Given the description of an element on the screen output the (x, y) to click on. 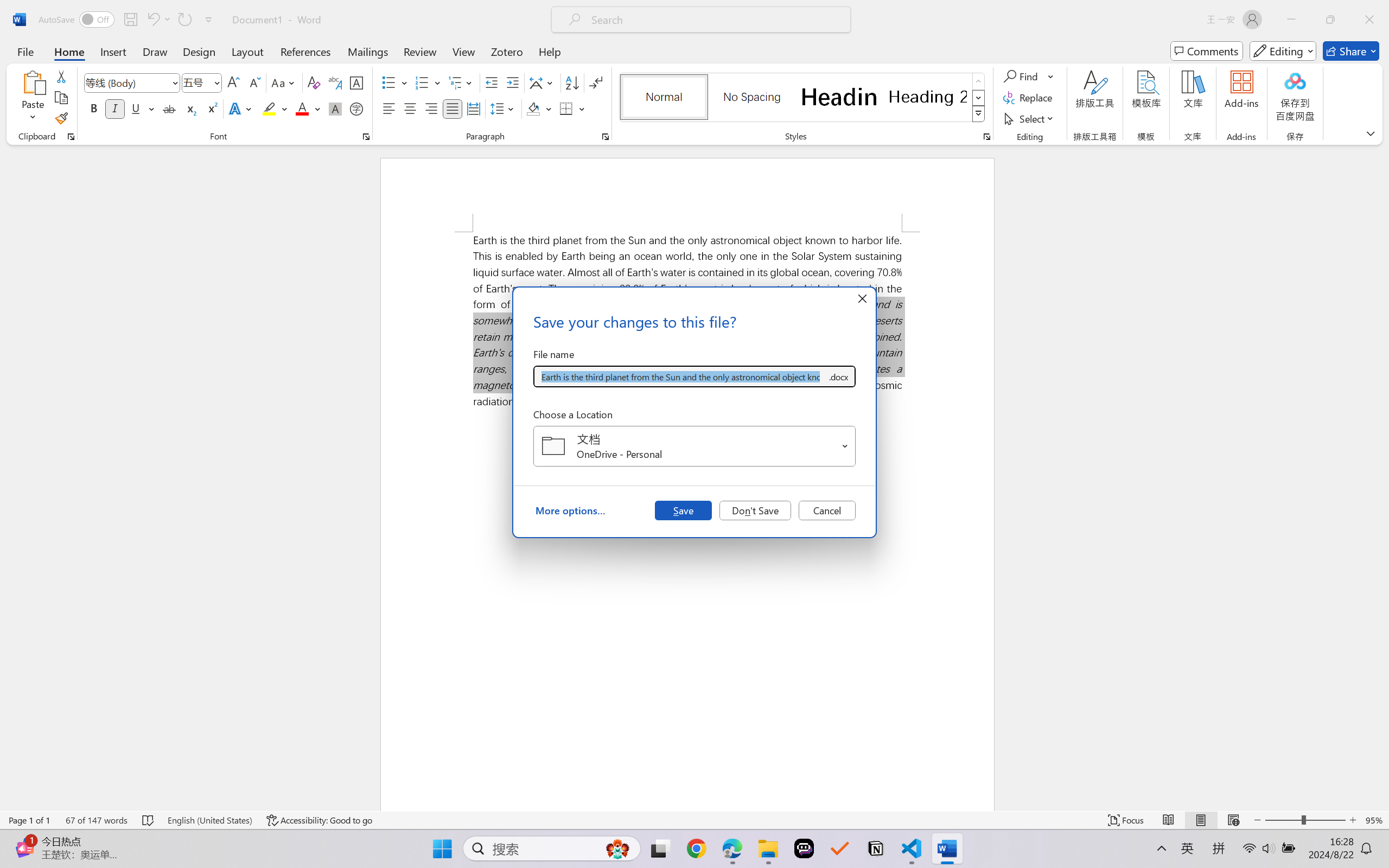
Styles... (986, 136)
Text Effects and Typography (241, 108)
Open (844, 446)
Multilevel List (461, 82)
Save as type (837, 376)
